Given the description of an element on the screen output the (x, y) to click on. 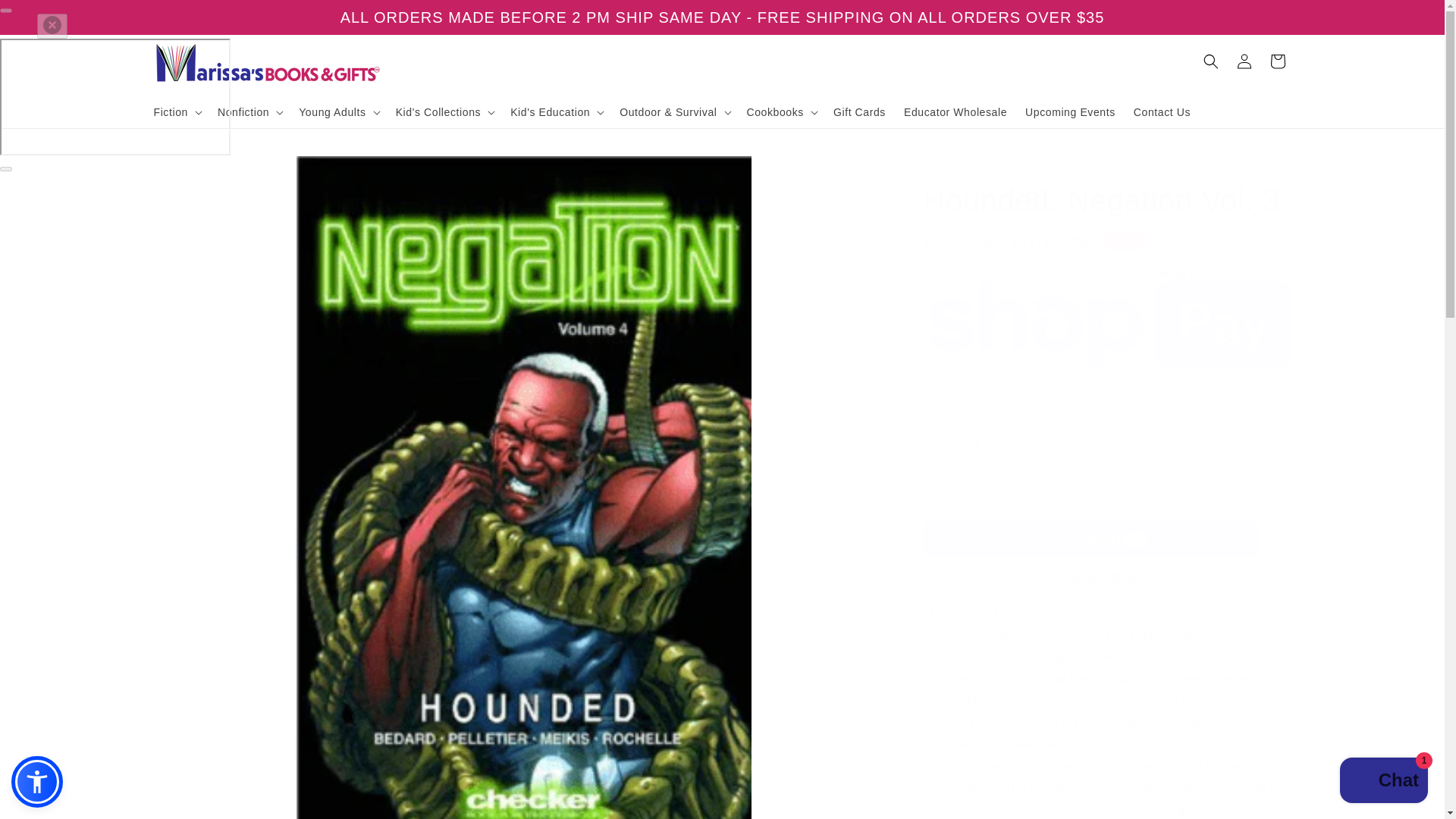
Skip to content (45, 17)
1 (976, 441)
Shopify online store chat (1383, 781)
Open Accessibility Menu (36, 781)
